Given the description of an element on the screen output the (x, y) to click on. 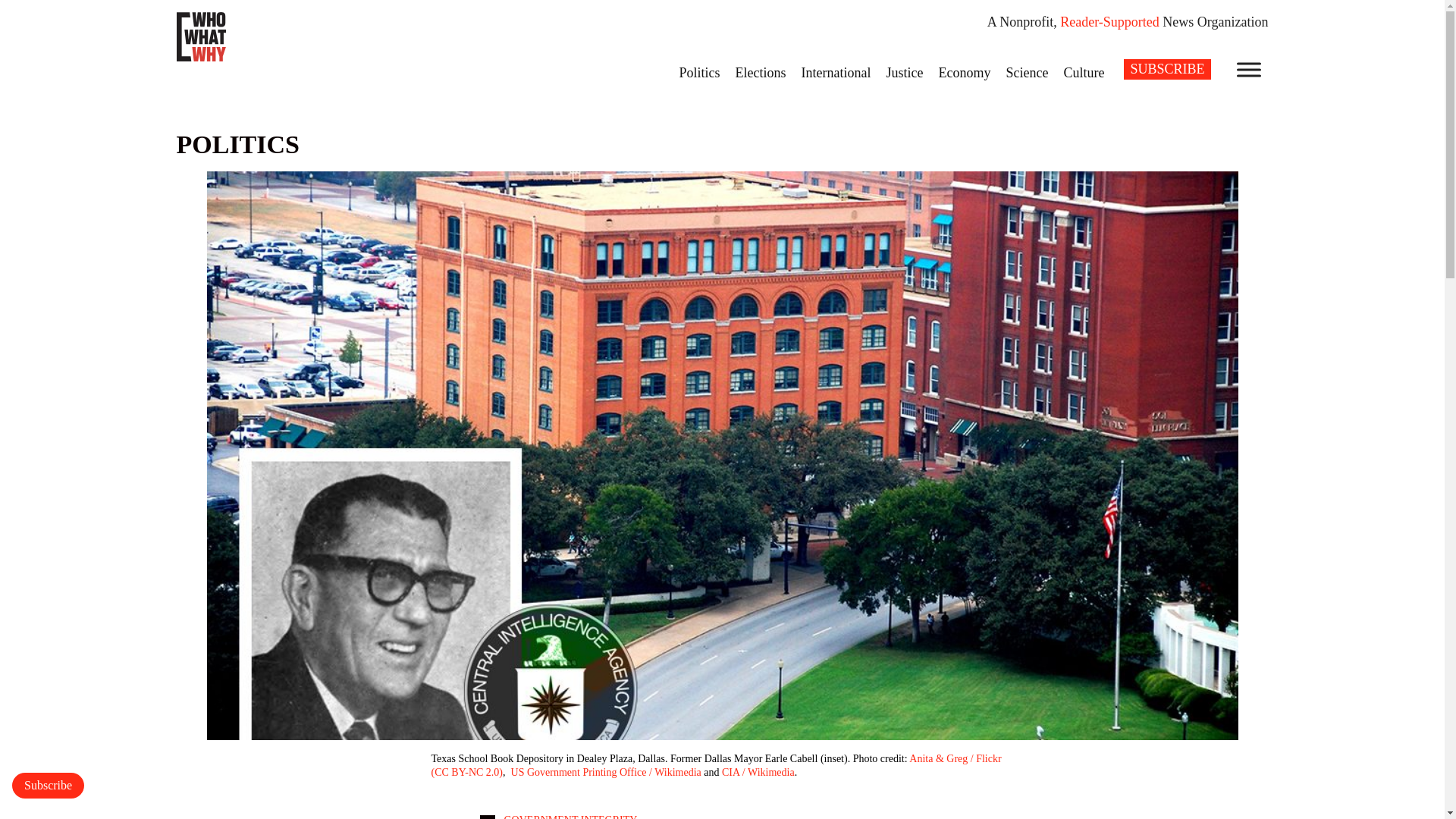
Reader-Supported (1108, 21)
Elections (760, 72)
SUBSCRIBE (1166, 68)
Subscribe (47, 785)
Search (21, 7)
Science (1026, 72)
Culture (1083, 72)
International (836, 72)
Donate (47, 785)
Justice (903, 72)
